Given the description of an element on the screen output the (x, y) to click on. 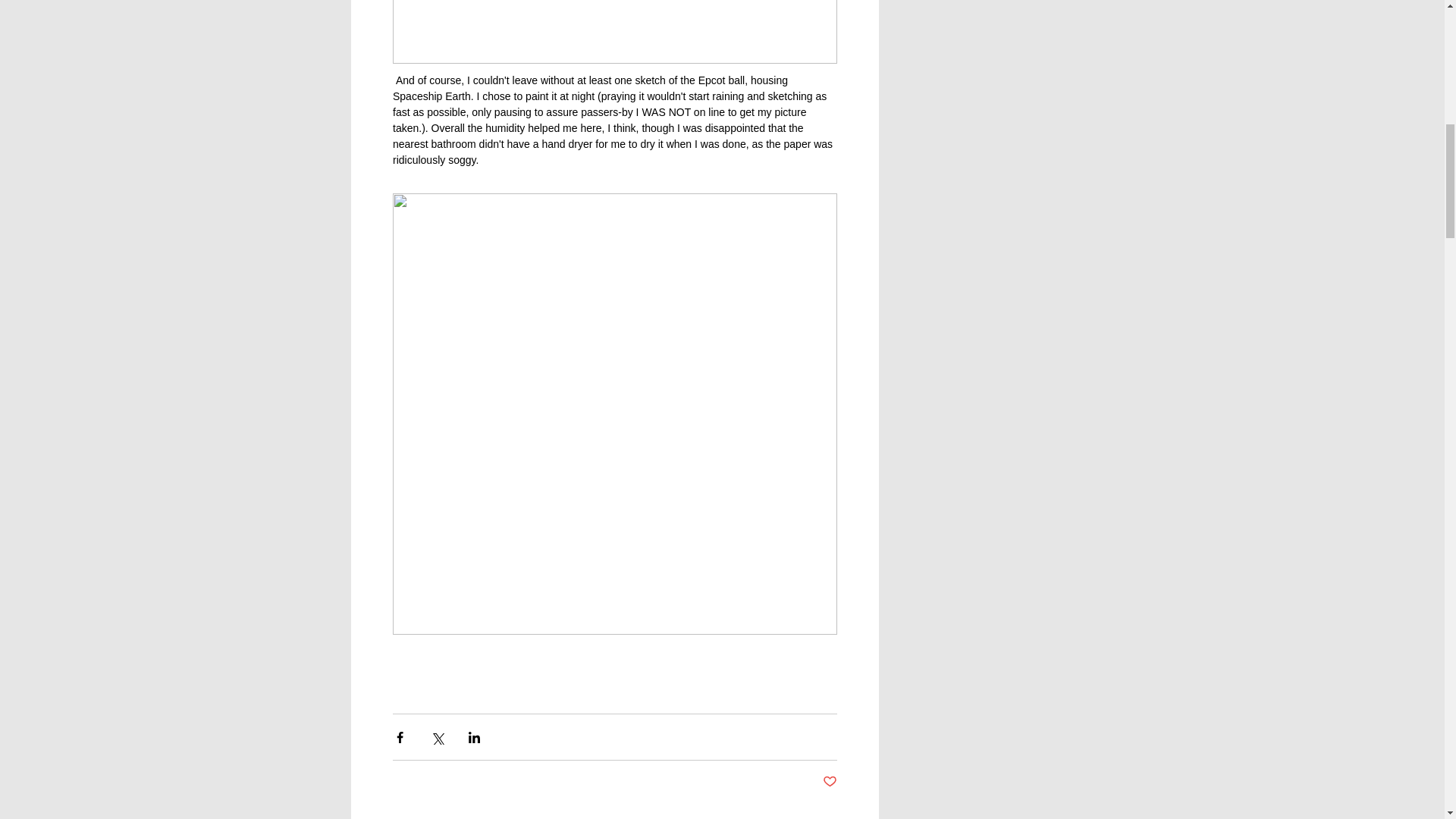
Post not marked as liked (828, 781)
